Given the description of an element on the screen output the (x, y) to click on. 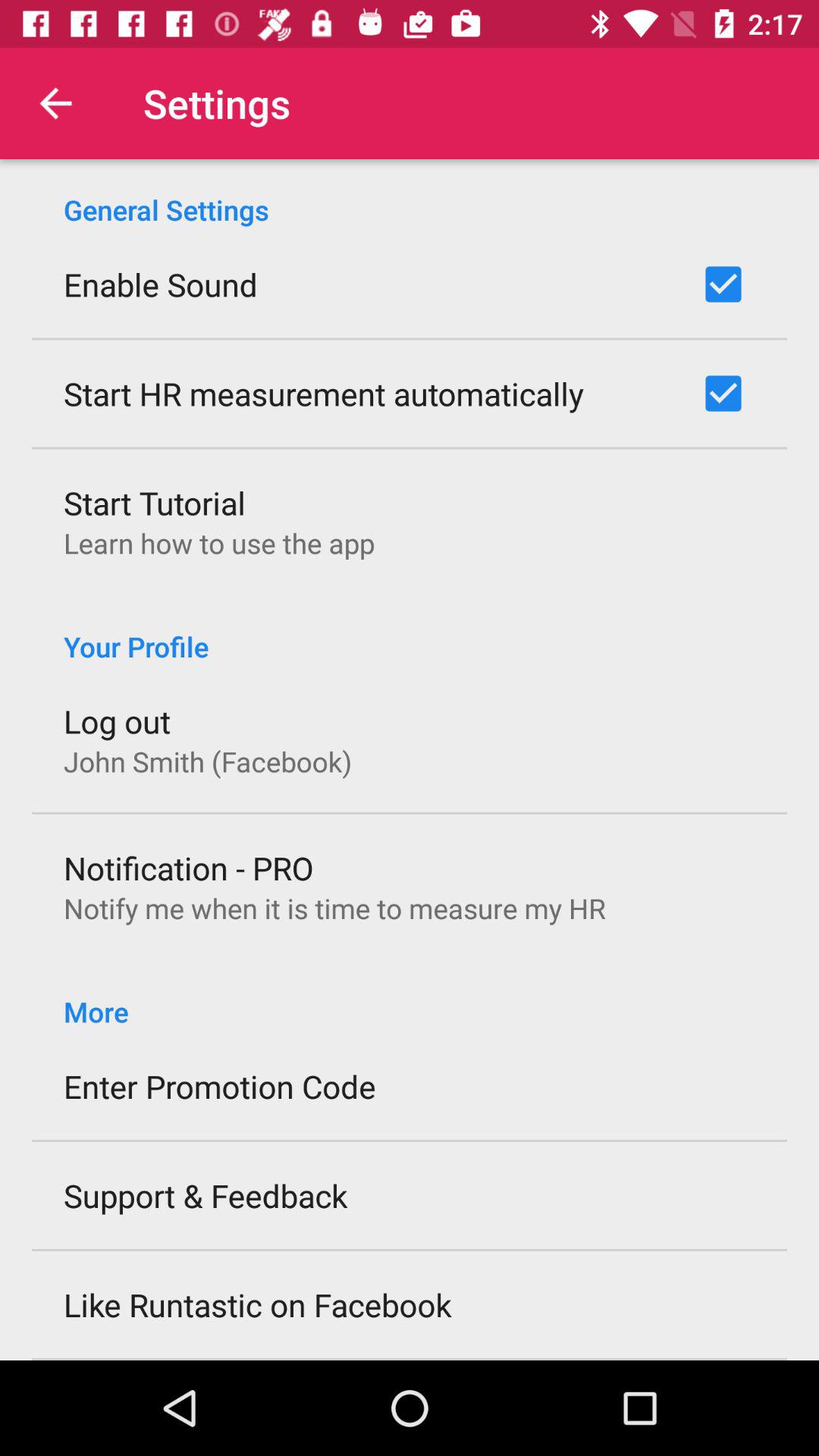
click the option beside start hr measurement automatically (723, 393)
